Given the description of an element on the screen output the (x, y) to click on. 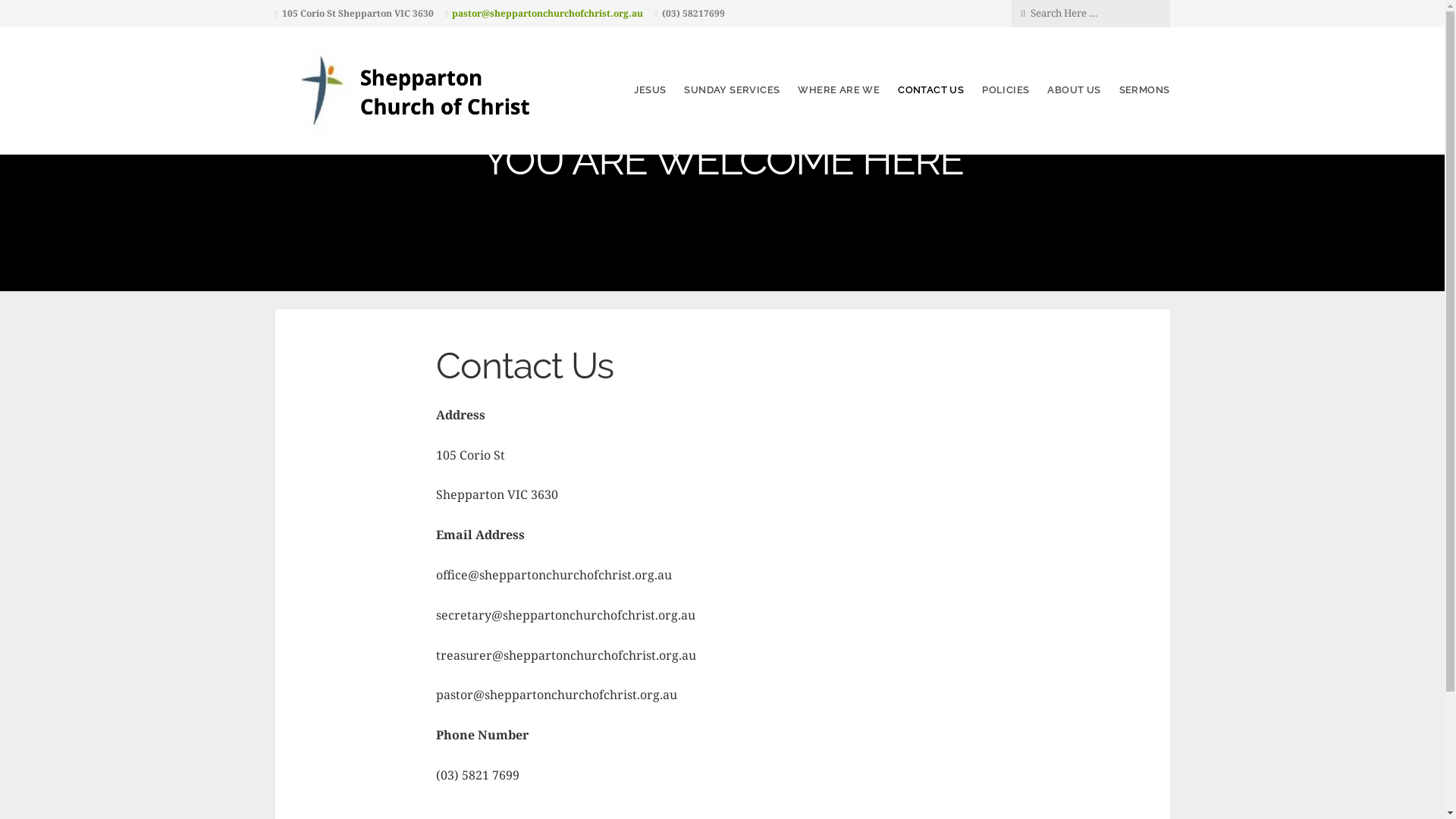
pastor@sheppartonchurchofchrist.org.au Element type: text (547, 12)
WHERE ARE WE Element type: text (838, 89)
ABOUT US Element type: text (1073, 89)
SUNDAY SERVICES Element type: text (731, 89)
Go Element type: text (116, 12)
POLICIES Element type: text (1005, 89)
CONTACT US Element type: text (930, 89)
SERMONS Element type: text (1144, 89)
JESUS Element type: text (649, 89)
